Given the description of an element on the screen output the (x, y) to click on. 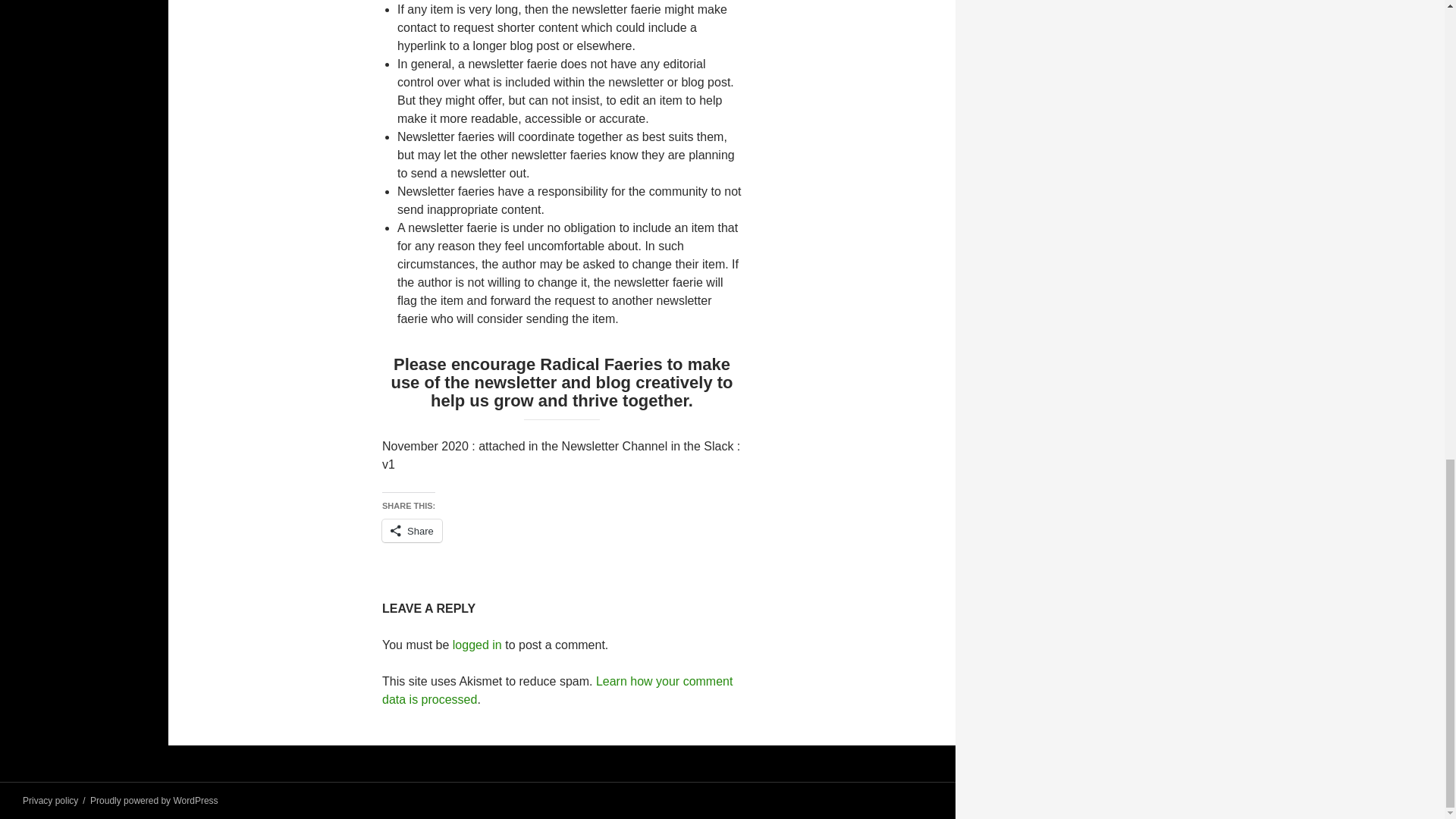
logged in (477, 644)
Privacy policy (50, 800)
Learn how your comment data is processed (556, 689)
Proudly powered by WordPress (154, 800)
Share (411, 530)
